Given the description of an element on the screen output the (x, y) to click on. 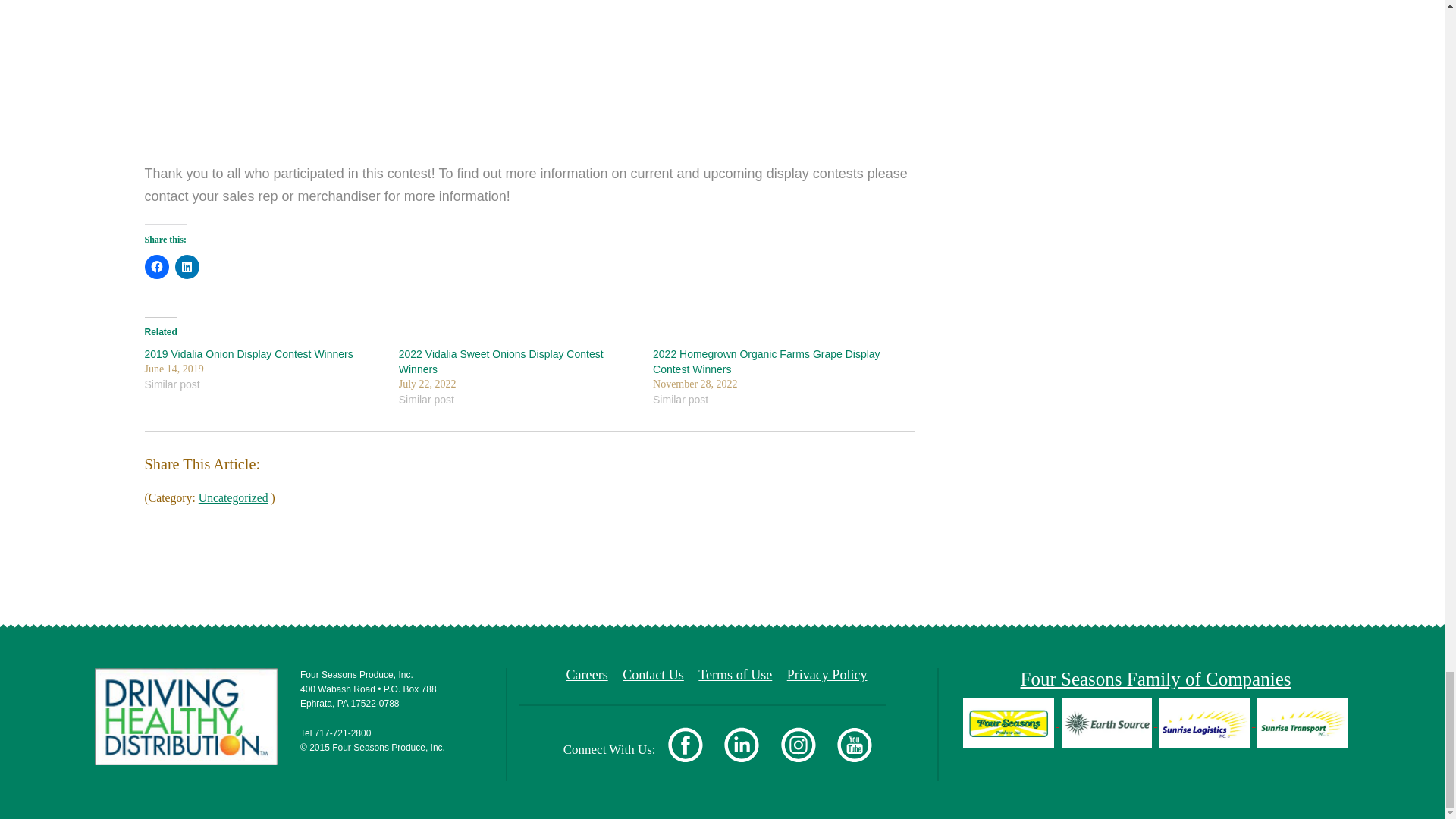
2019 Vidalia Onion Display Contest Winners (248, 354)
Uncategorized (232, 497)
Click to share on LinkedIn (186, 266)
2022 Homegrown Organic Farms Grape Display Contest Winners (766, 361)
2022 Vidalia Sweet Onions Display Contest Winners (501, 361)
Click to share on Facebook (156, 266)
2022 Vidalia Sweet Onions Display Contest Winners (501, 361)
2022 Homegrown Organic Farms Grape Display Contest Winners (766, 361)
2019 Vidalia Onion Display Contest Winners (248, 354)
